Given the description of an element on the screen output the (x, y) to click on. 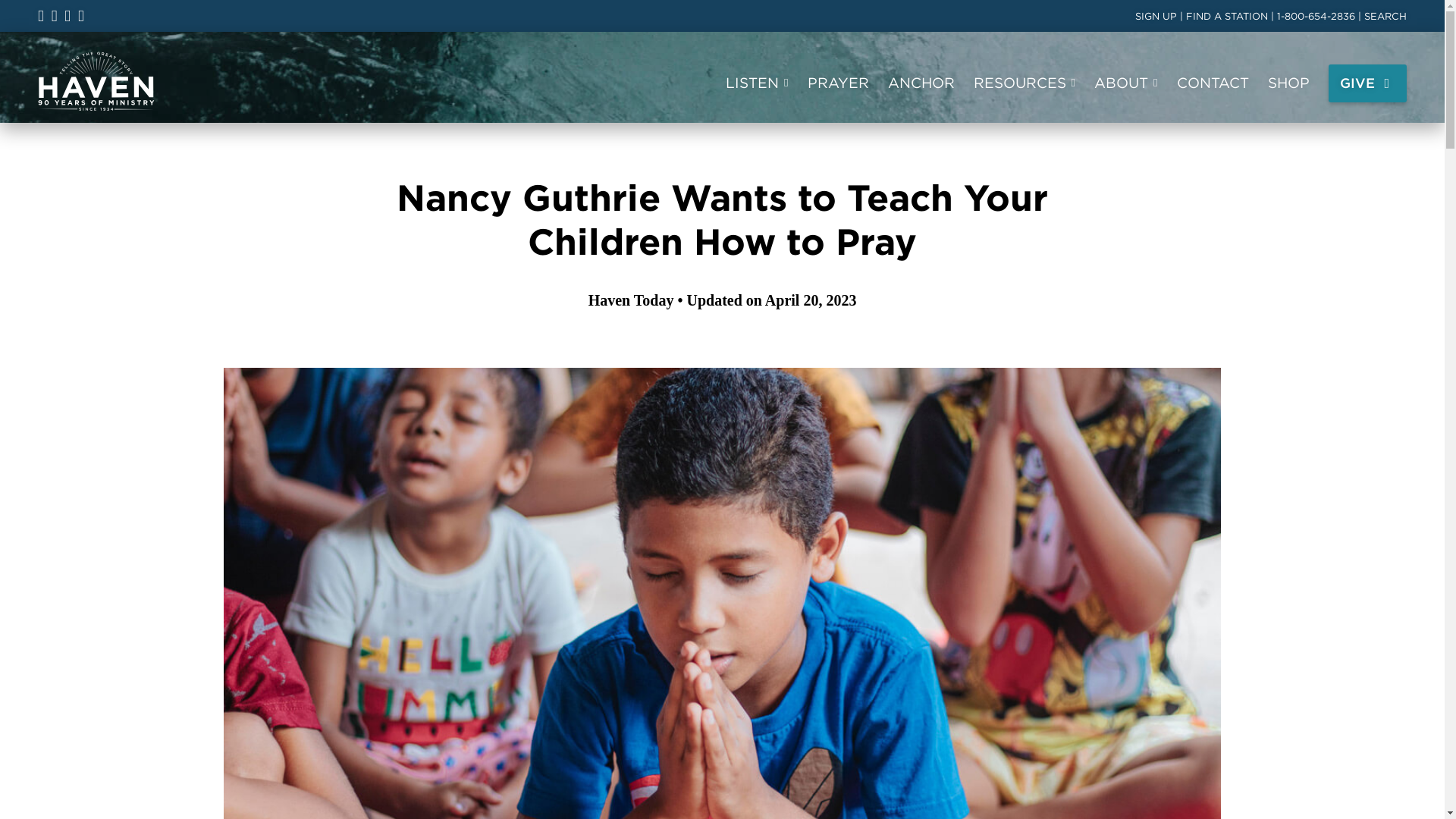
SIGN UP (1155, 16)
FIND A STATION (1227, 16)
CONTACT (1212, 83)
LISTEN (756, 83)
ANCHOR (921, 83)
PRAYER (838, 83)
RESOURCES (1024, 83)
ABOUT (1125, 83)
SHOP (1288, 83)
SEARCH (1385, 16)
